Given the description of an element on the screen output the (x, y) to click on. 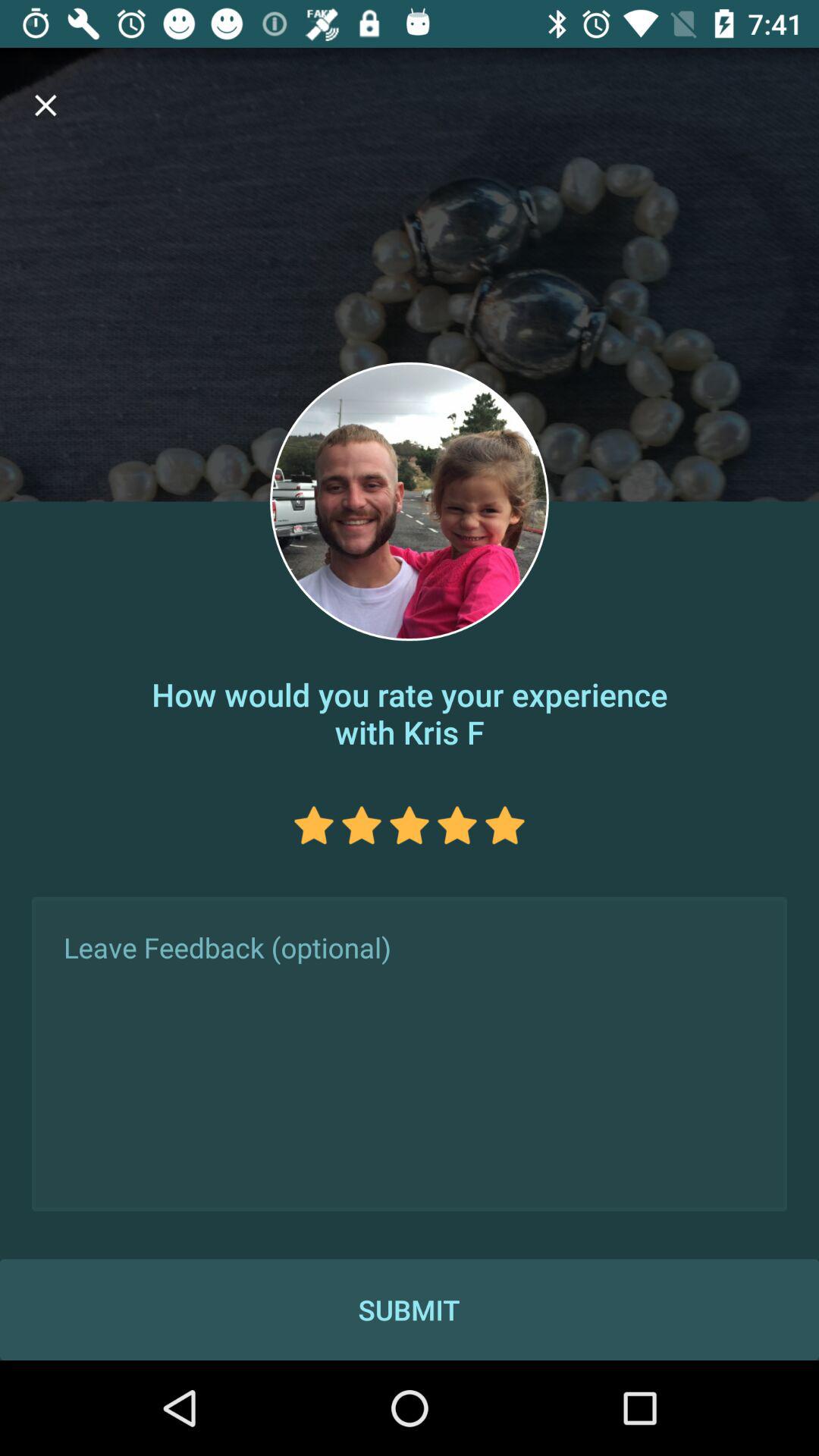
rate 2 stars (361, 825)
